Given the description of an element on the screen output the (x, y) to click on. 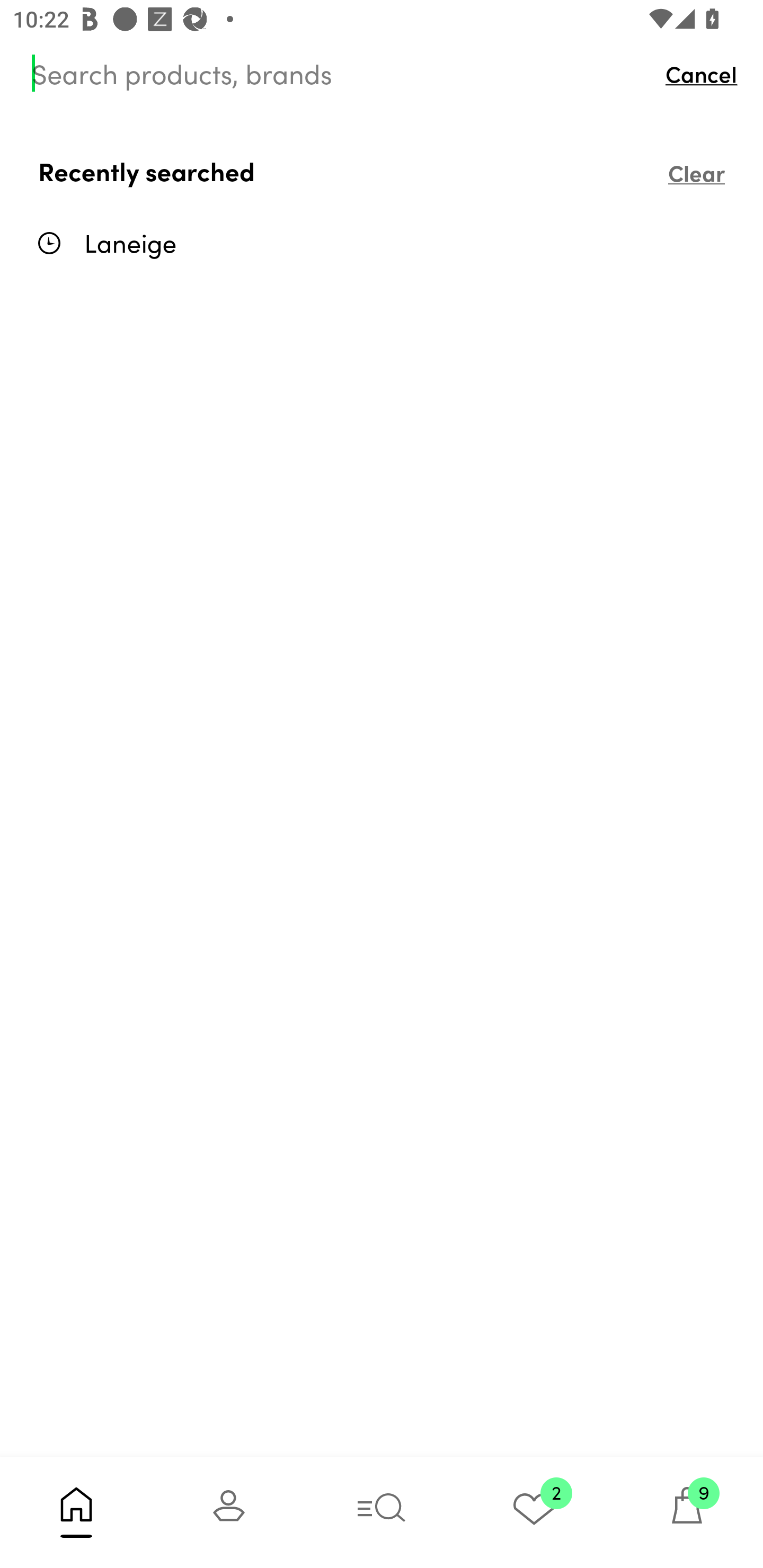
Cancel (706, 72)
Search products, brands (340, 72)
Clear (696, 171)
Laneige (400, 243)
2 (533, 1512)
9 (686, 1512)
